Given the description of an element on the screen output the (x, y) to click on. 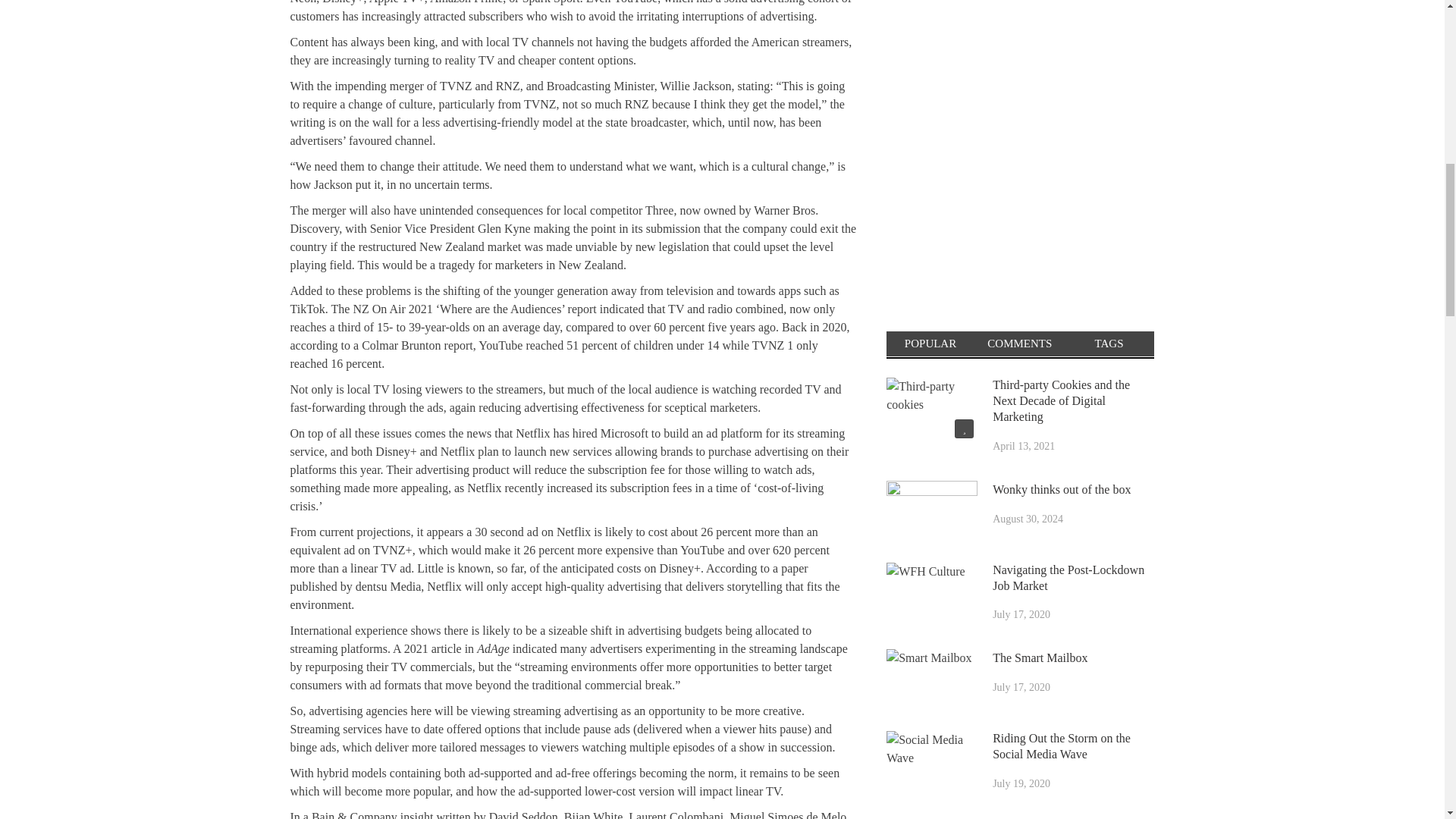
The Smart Mailbox (931, 681)
Third-party Cookies and the Next Decade of Digital Marketing (931, 409)
Navigating the Post-Lockdown Job Market (931, 594)
Wonky thinks out of the box (931, 512)
Riding Out the Storm on the Social Media Wave (931, 763)
